Given the description of an element on the screen output the (x, y) to click on. 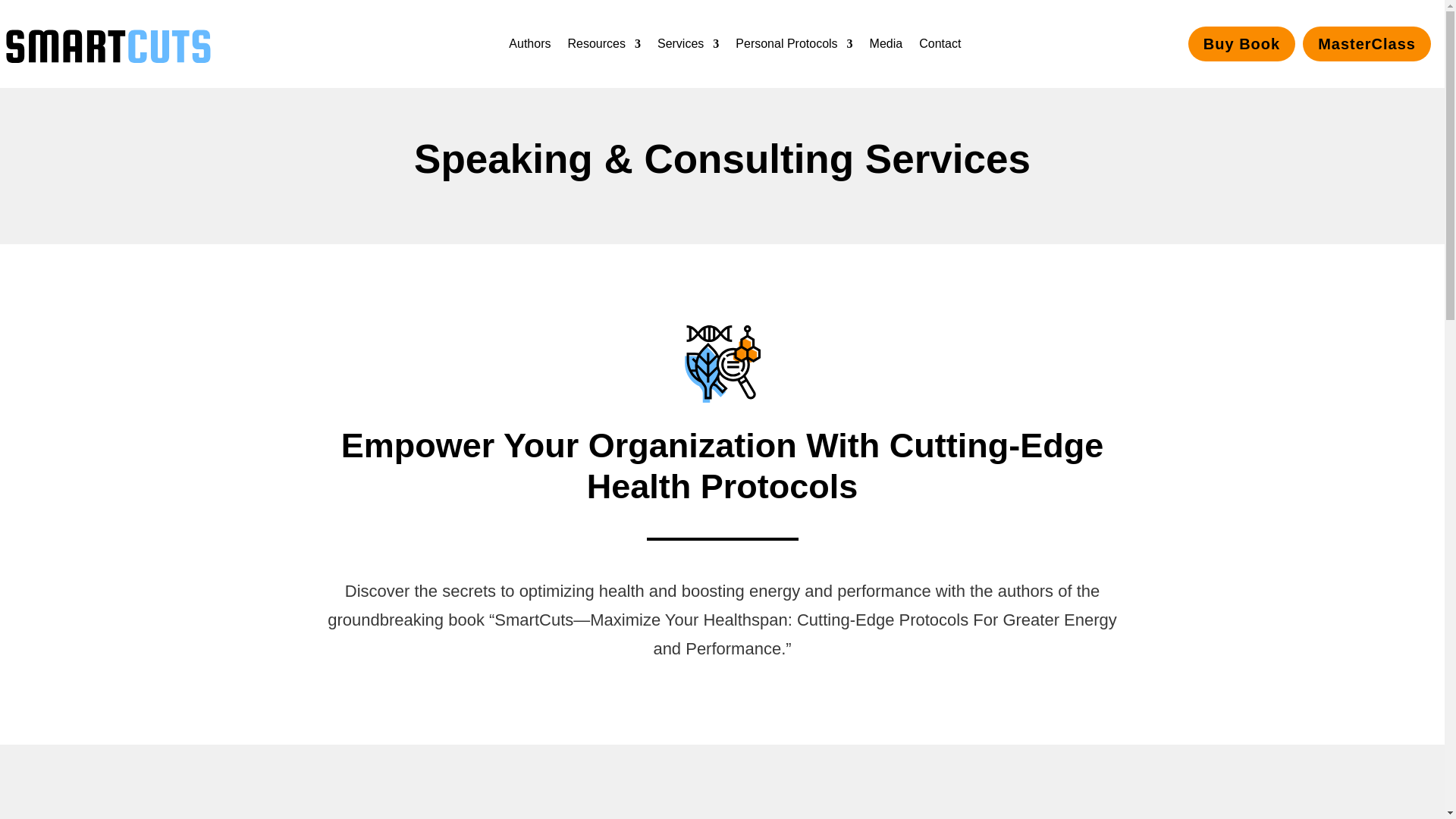
Cutting Edge Protocols (722, 363)
Services (688, 43)
Buy Book (1241, 43)
Resources (603, 43)
Personal Protocols (793, 43)
MasterClass (1367, 43)
